Given the description of an element on the screen output the (x, y) to click on. 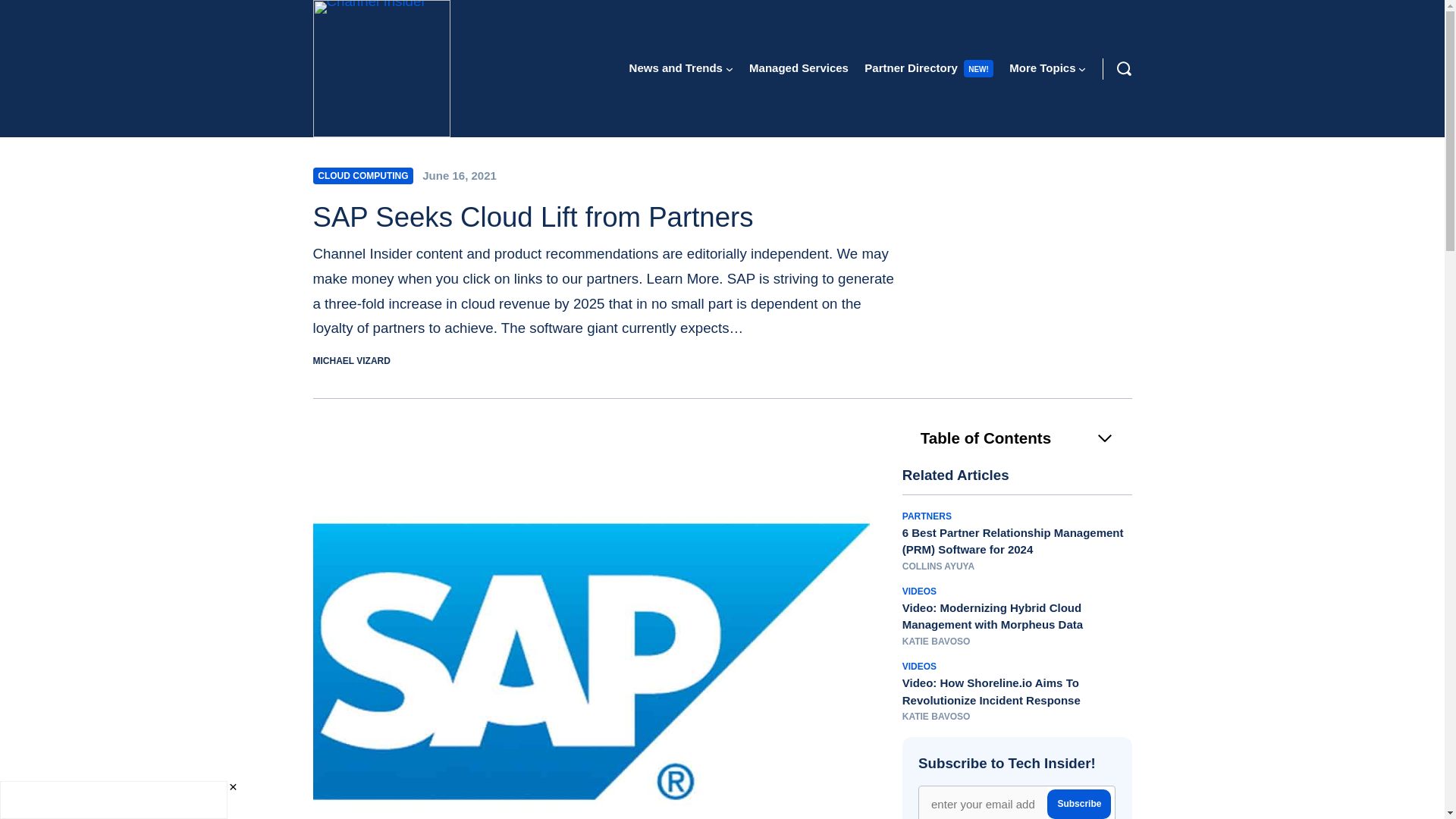
MICHAEL VIZARD (351, 360)
Table of Contents (1017, 438)
More Topics (1042, 67)
Managed Services (798, 67)
close (232, 786)
Partner Directory (911, 67)
CLOUD COMPUTING (363, 175)
News and Trends (675, 67)
